Given the description of an element on the screen output the (x, y) to click on. 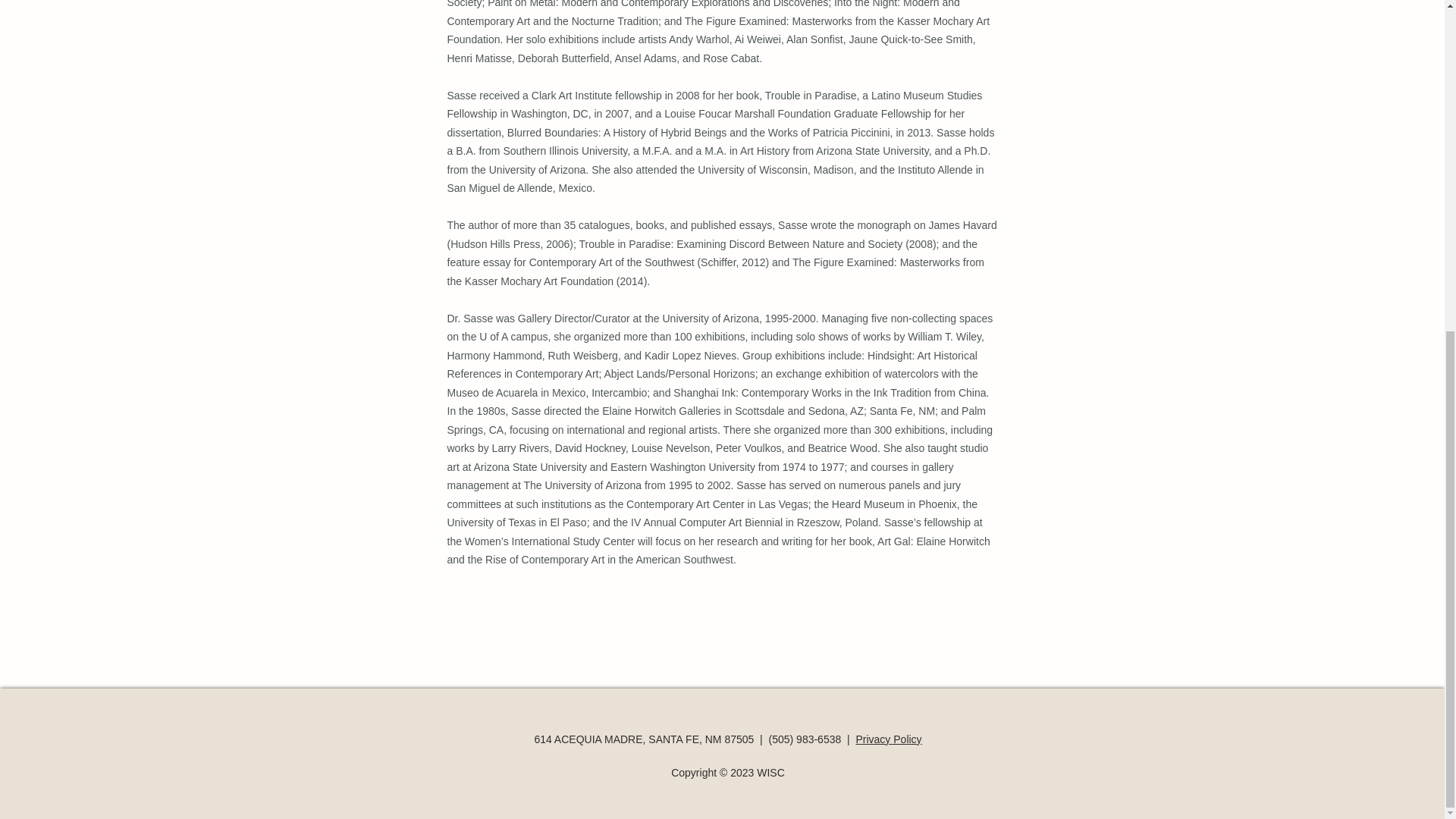
Privacy Policy (888, 739)
